Given the description of an element on the screen output the (x, y) to click on. 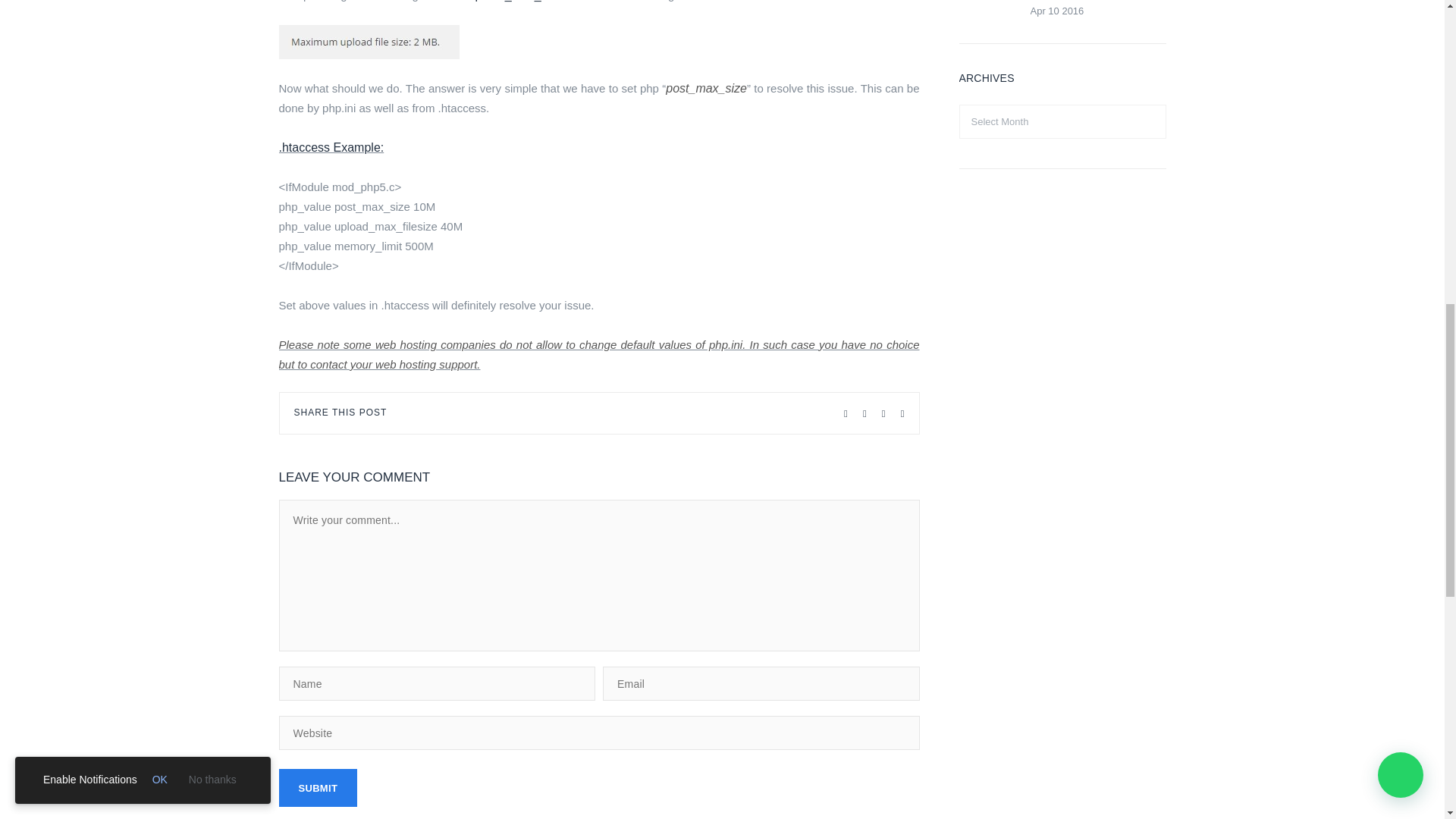
Share On Linkedin (883, 413)
Share On Facebook (864, 413)
Submit (318, 787)
Share On Twitter (845, 413)
